Given the description of an element on the screen output the (x, y) to click on. 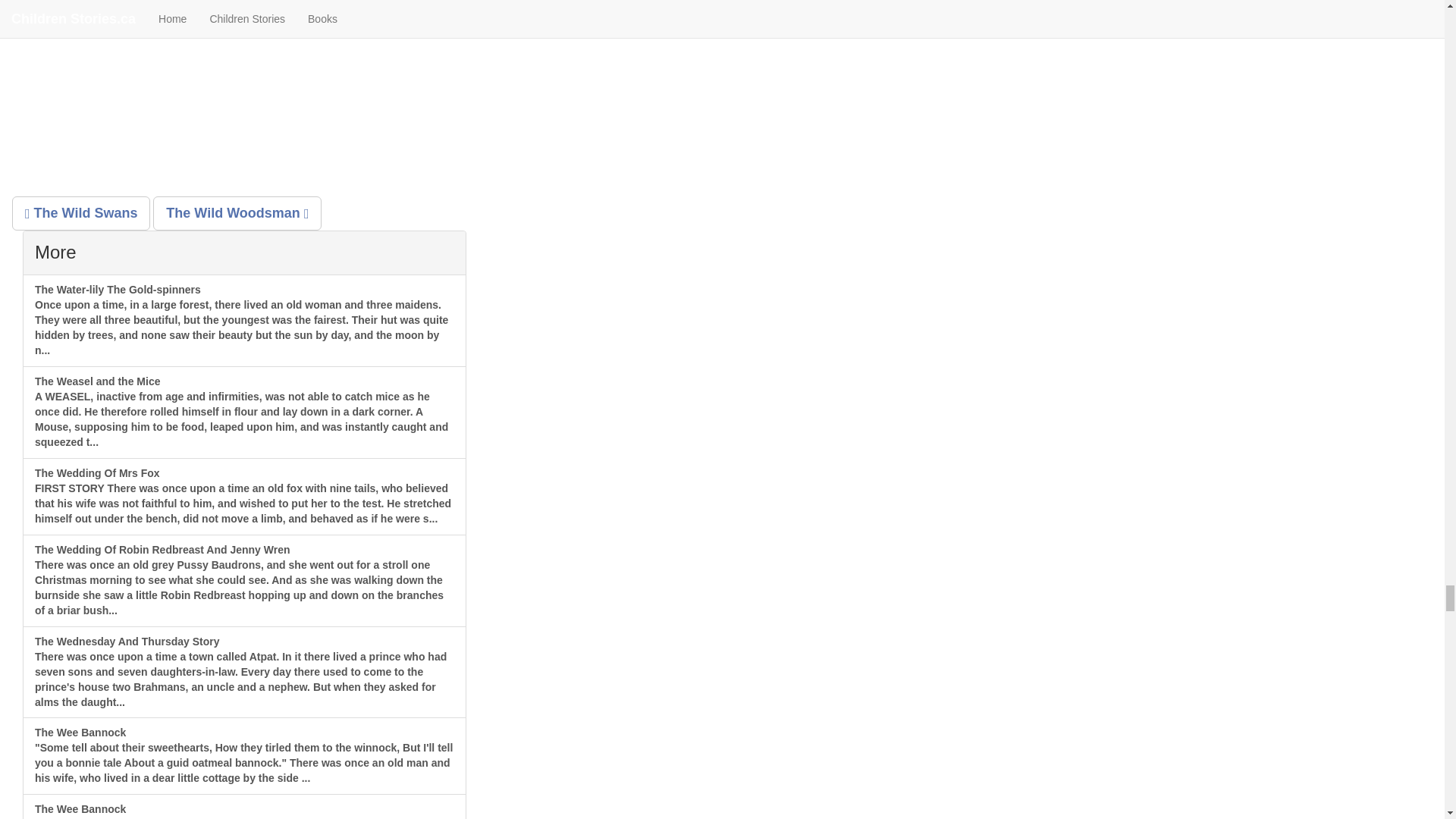
The Wild Woodsman (236, 213)
The Wild Swans (80, 213)
